Given the description of an element on the screen output the (x, y) to click on. 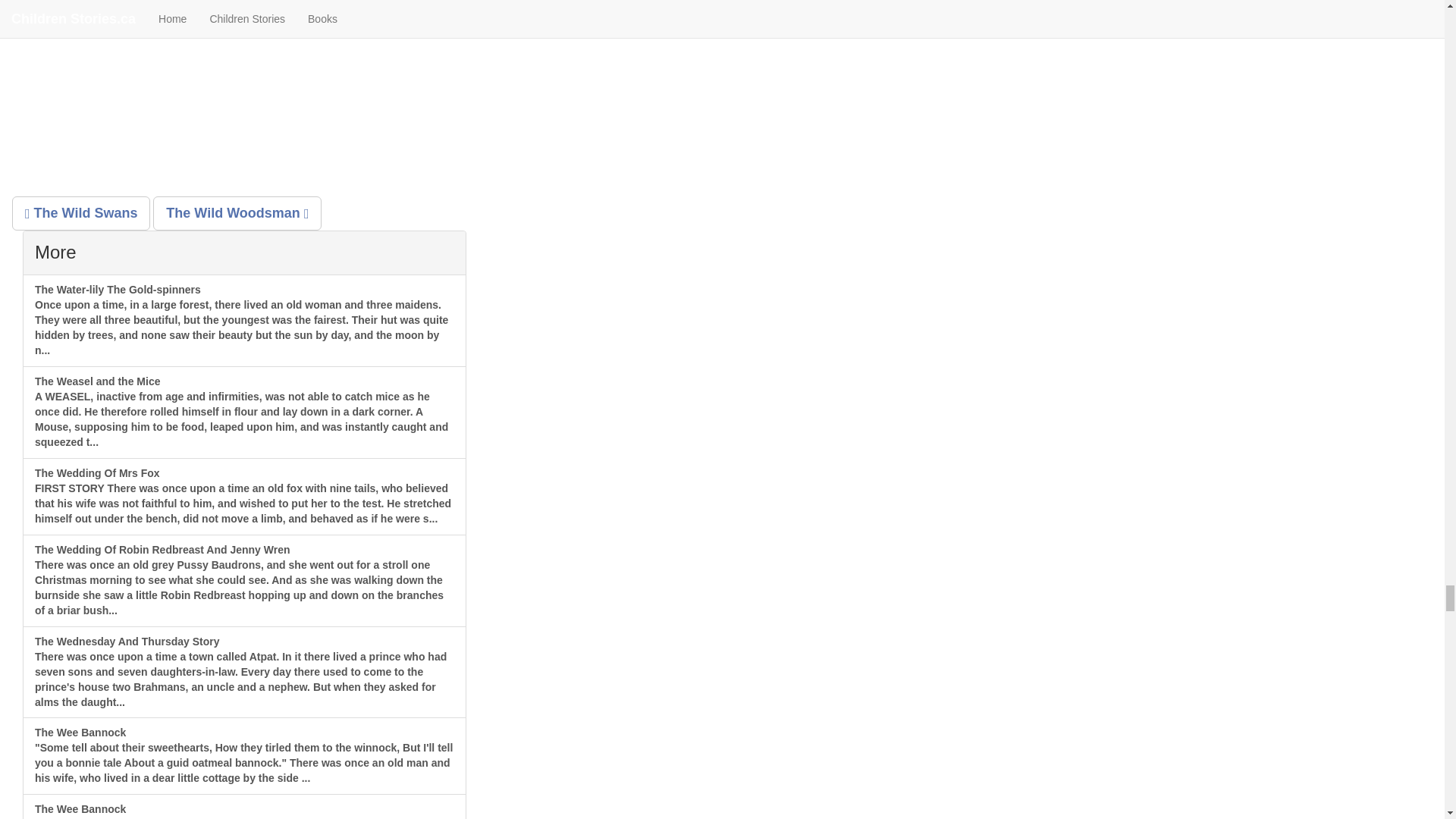
The Wild Woodsman (236, 213)
The Wild Swans (80, 213)
